Given the description of an element on the screen output the (x, y) to click on. 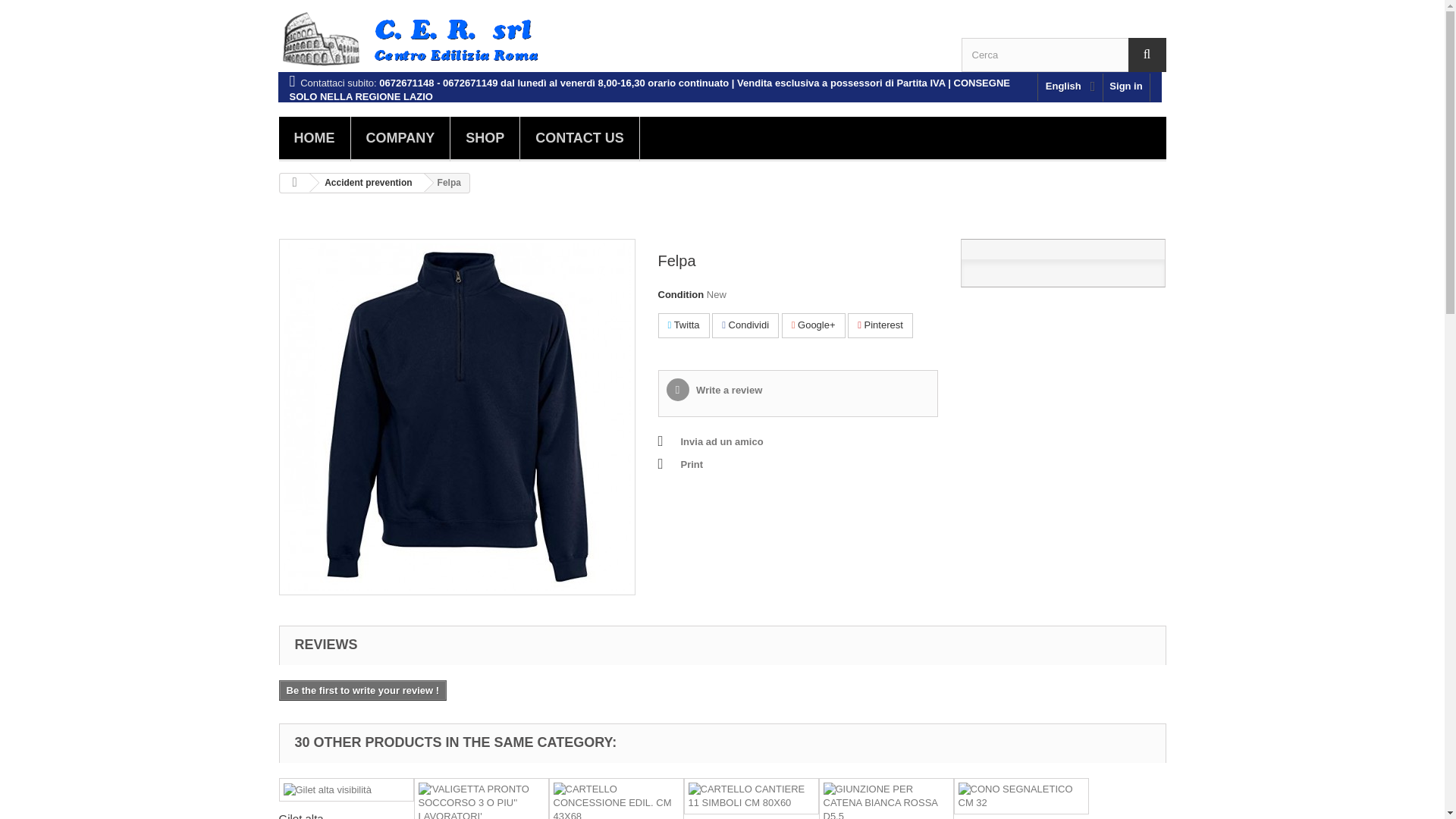
Be the first to write your review ! (362, 690)
Home (314, 139)
Write a review (713, 390)
COMPANY (399, 139)
Sign in (1125, 87)
Accident prevention (365, 182)
Invia ad un amico (710, 442)
SHOP (484, 139)
Company (399, 139)
